Given the description of an element on the screen output the (x, y) to click on. 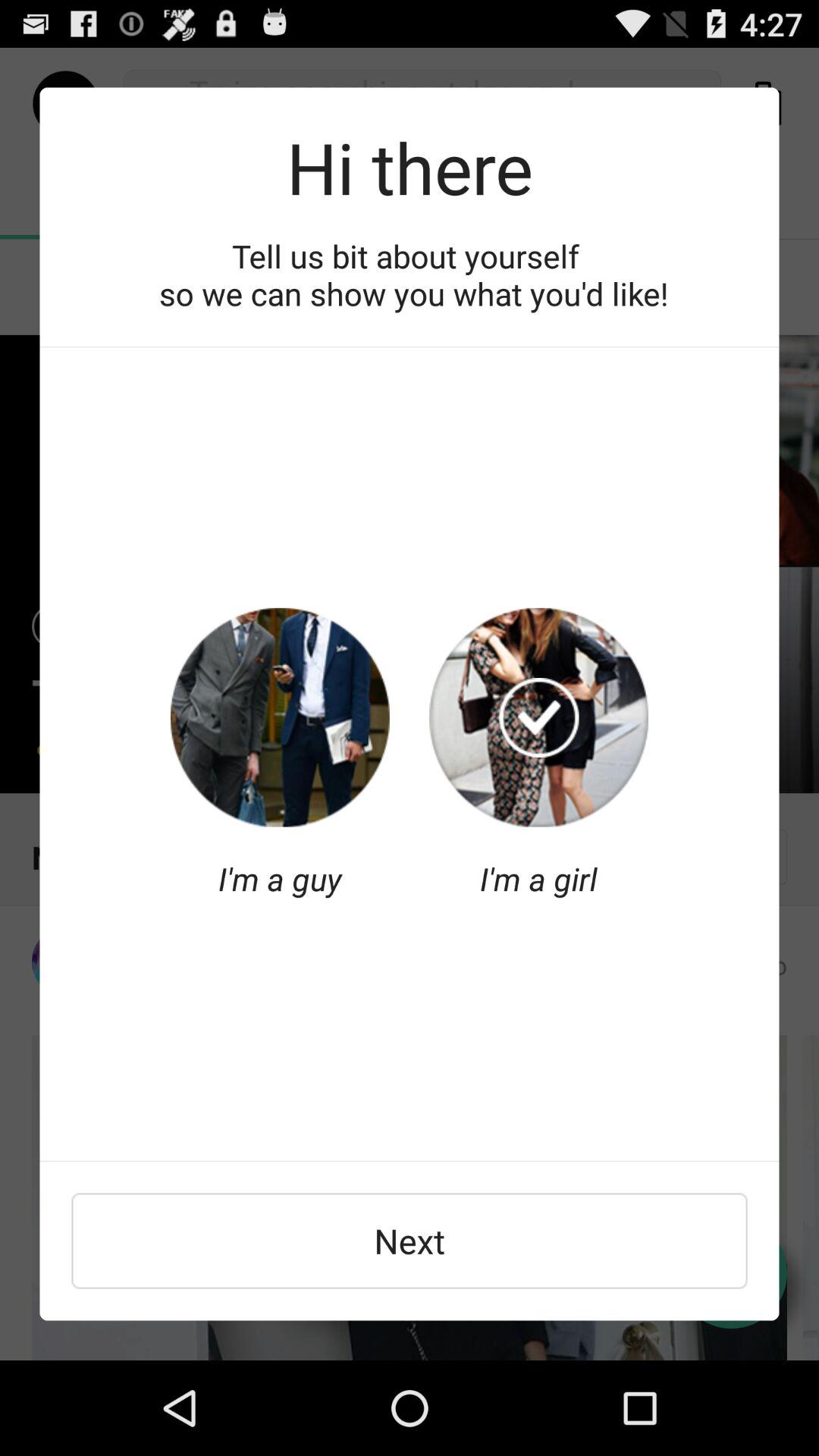
select girl as gender (538, 716)
